Given the description of an element on the screen output the (x, y) to click on. 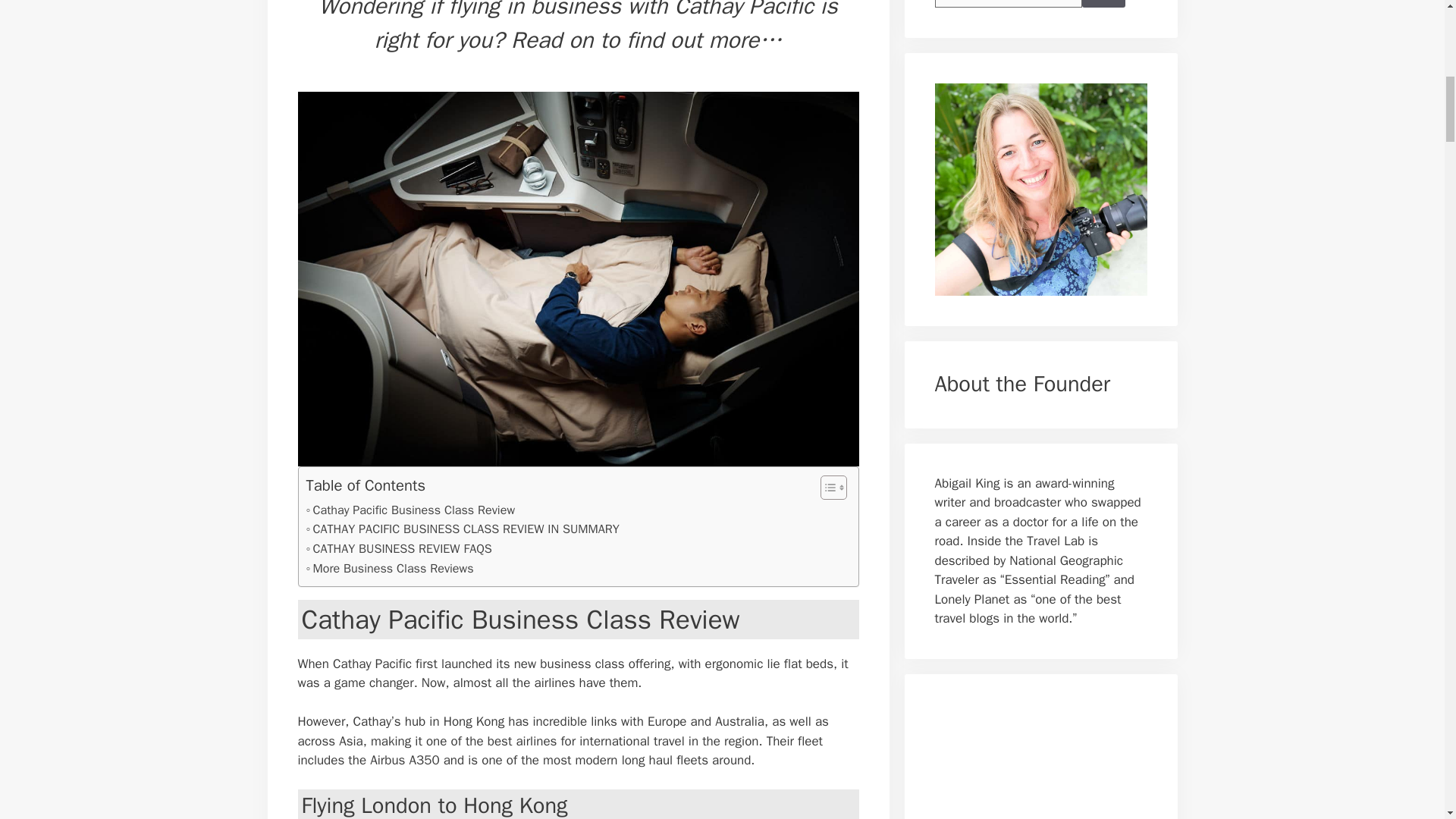
More Business Class Reviews (389, 568)
Search for: (1007, 3)
CATHAY PACIFIC BUSINESS CLASS REVIEW IN SUMMARY (462, 528)
CATHAY BUSINESS REVIEW FAQS (398, 548)
Cathay Pacific Business Class Review (410, 510)
